Given the description of an element on the screen output the (x, y) to click on. 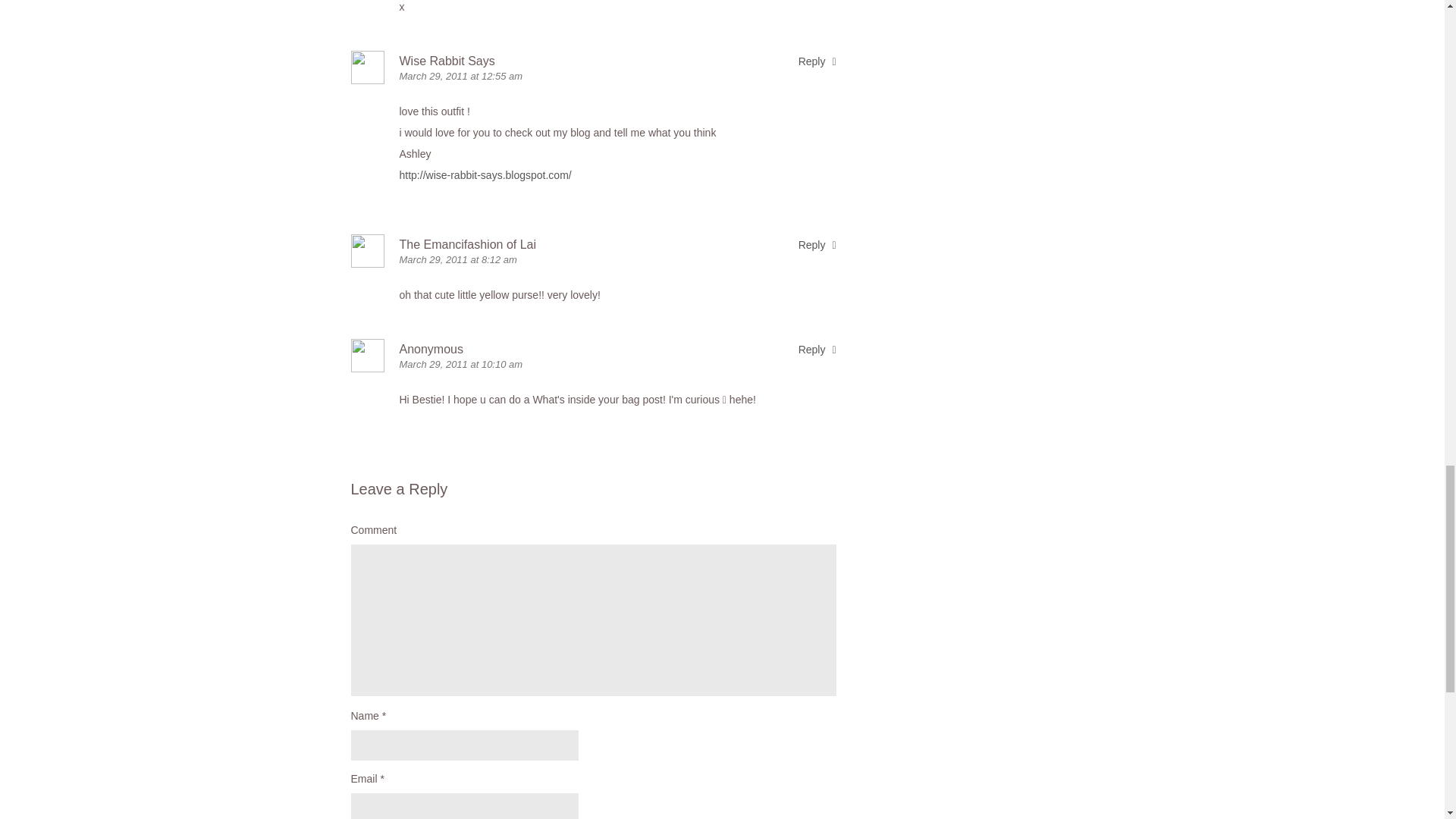
Reply (816, 61)
Reply (816, 349)
Reply (816, 244)
